Given the description of an element on the screen output the (x, y) to click on. 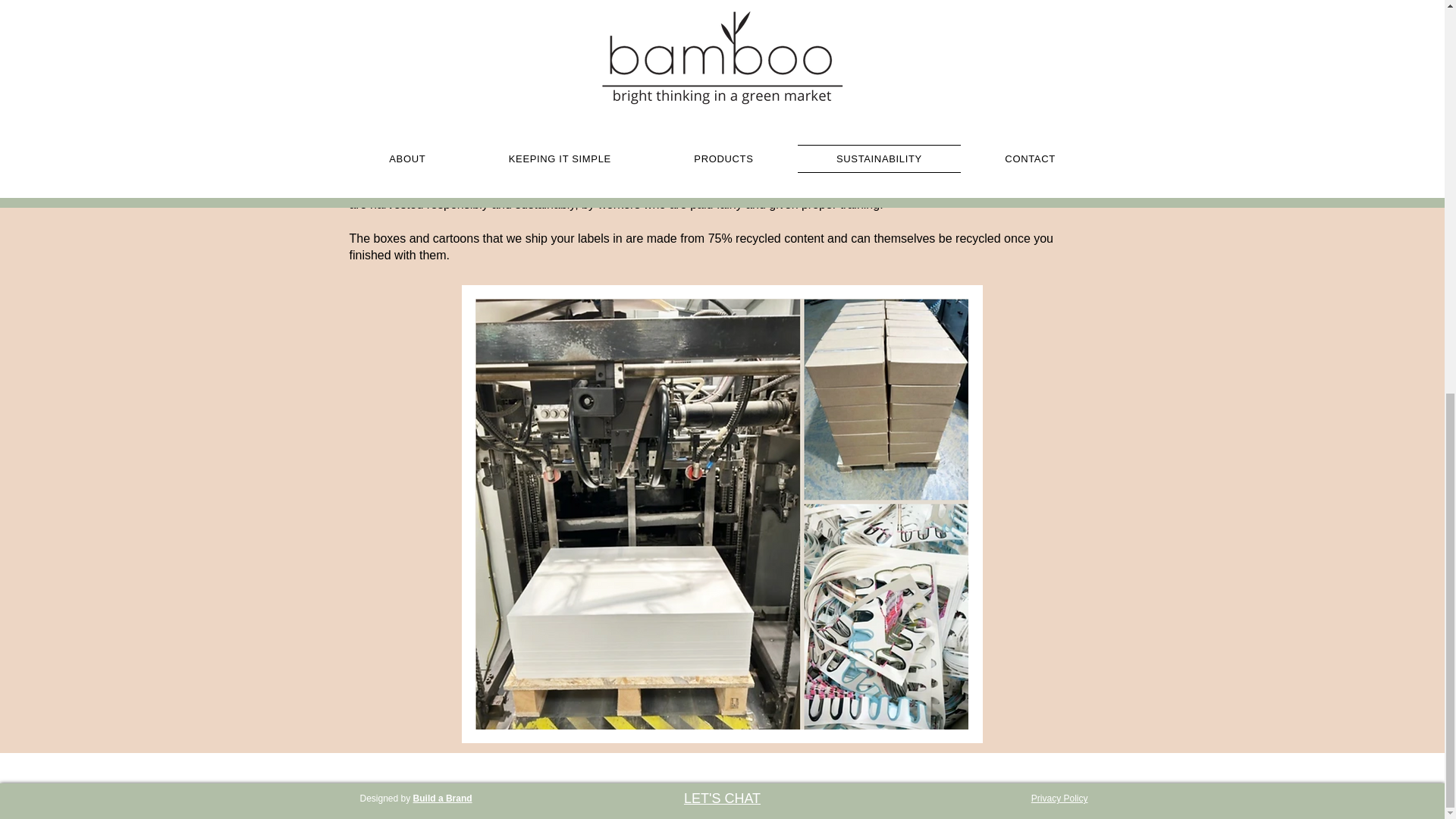
LET'S CHAT (722, 798)
Privacy Policy (1058, 798)
Build a Brand (442, 798)
